Given the description of an element on the screen output the (x, y) to click on. 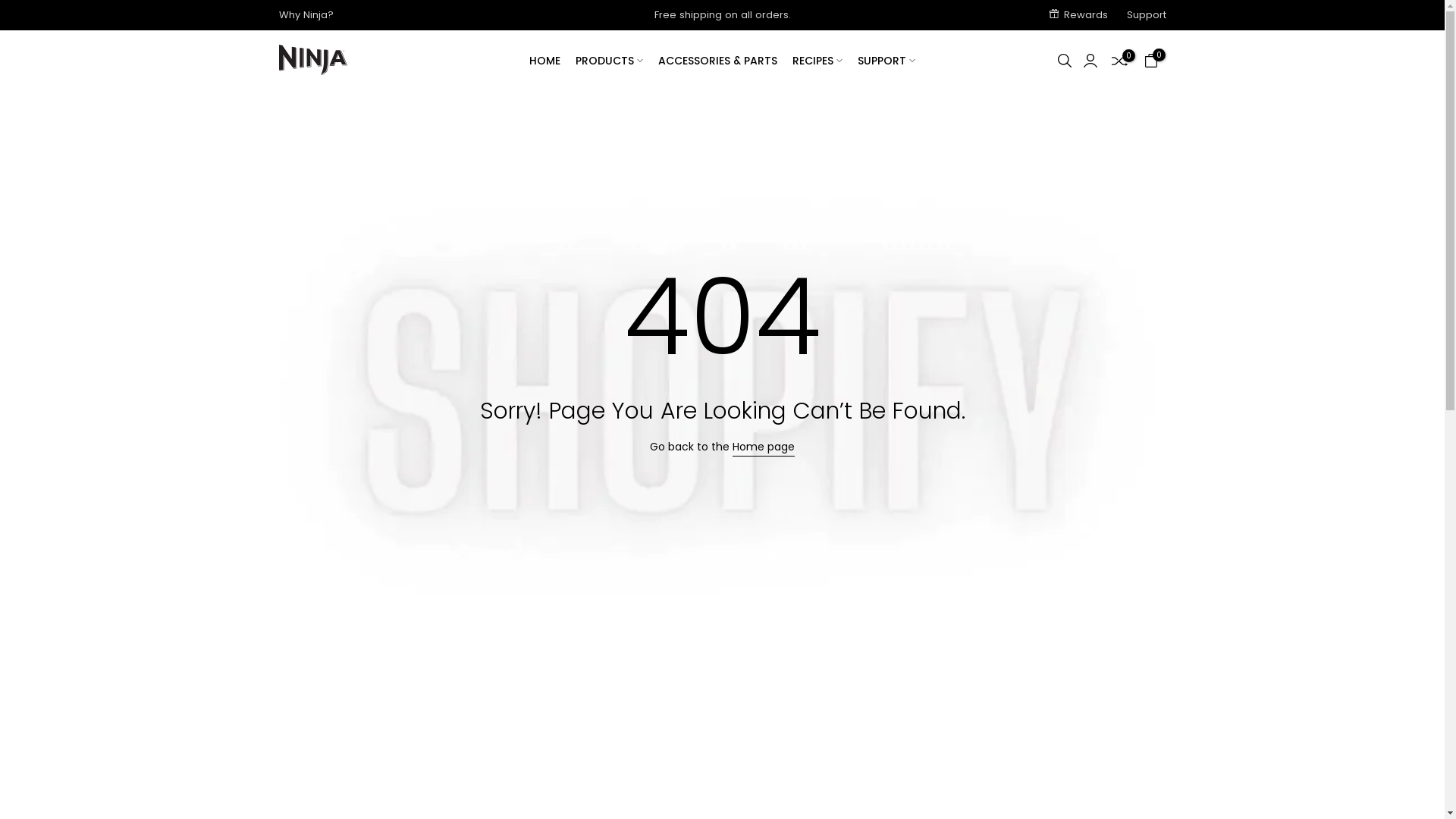
RECIPES Element type: text (817, 60)
0 Element type: text (1119, 61)
Why Ninja? Element type: text (306, 14)
0 Element type: text (1150, 60)
PRODUCTS Element type: text (608, 60)
ACCESSORIES & PARTS Element type: text (717, 60)
Home page Element type: text (763, 446)
Support Element type: text (1146, 14)
HOME Element type: text (548, 60)
SUPPORT Element type: text (882, 60)
Rewards Element type: text (1077, 14)
